Given the description of an element on the screen output the (x, y) to click on. 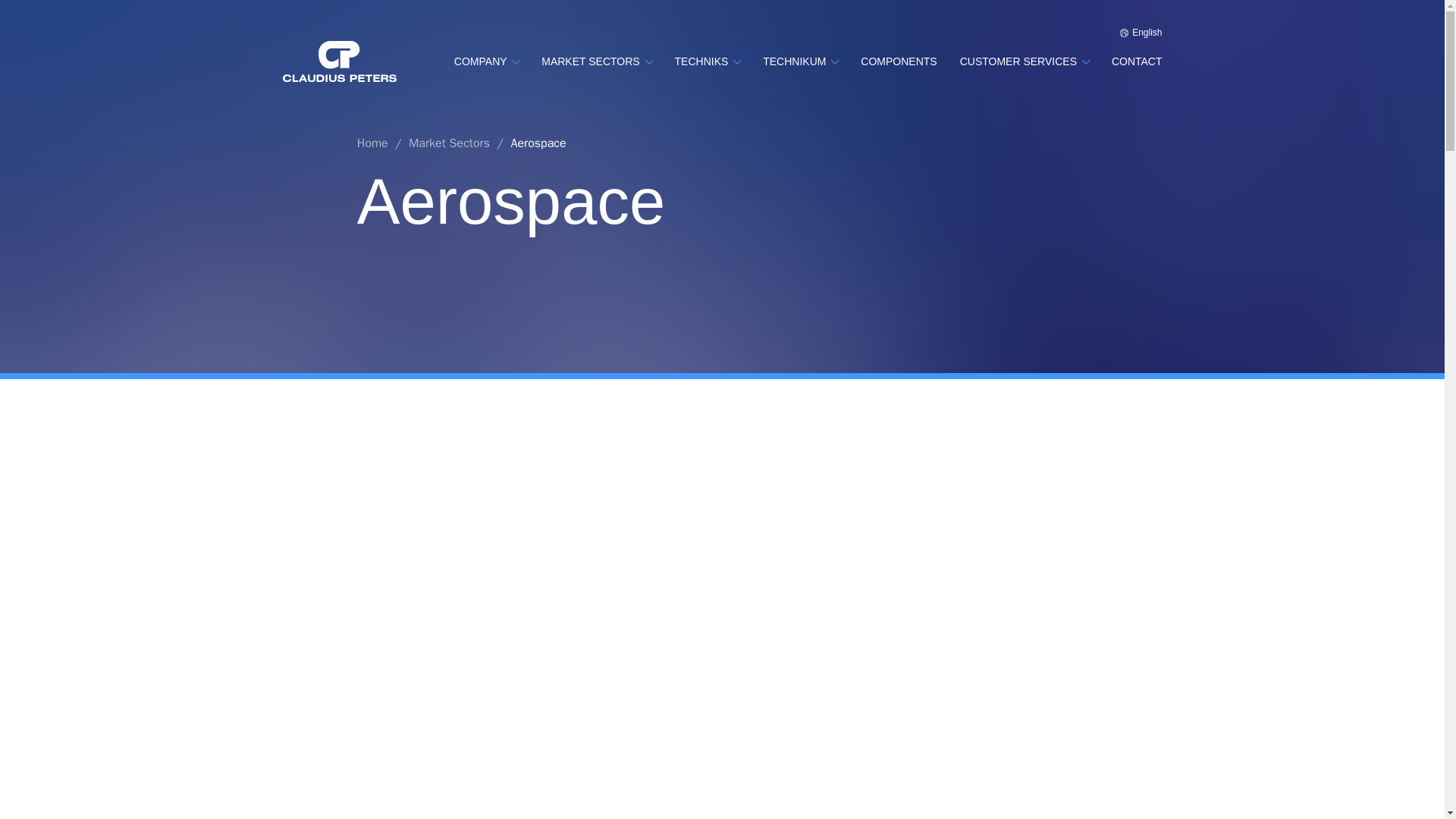
TECHNIKUM (800, 61)
English (1140, 31)
TECHNIKS (708, 61)
COMPANY (486, 61)
MARKET SECTORS (595, 61)
